Given the description of an element on the screen output the (x, y) to click on. 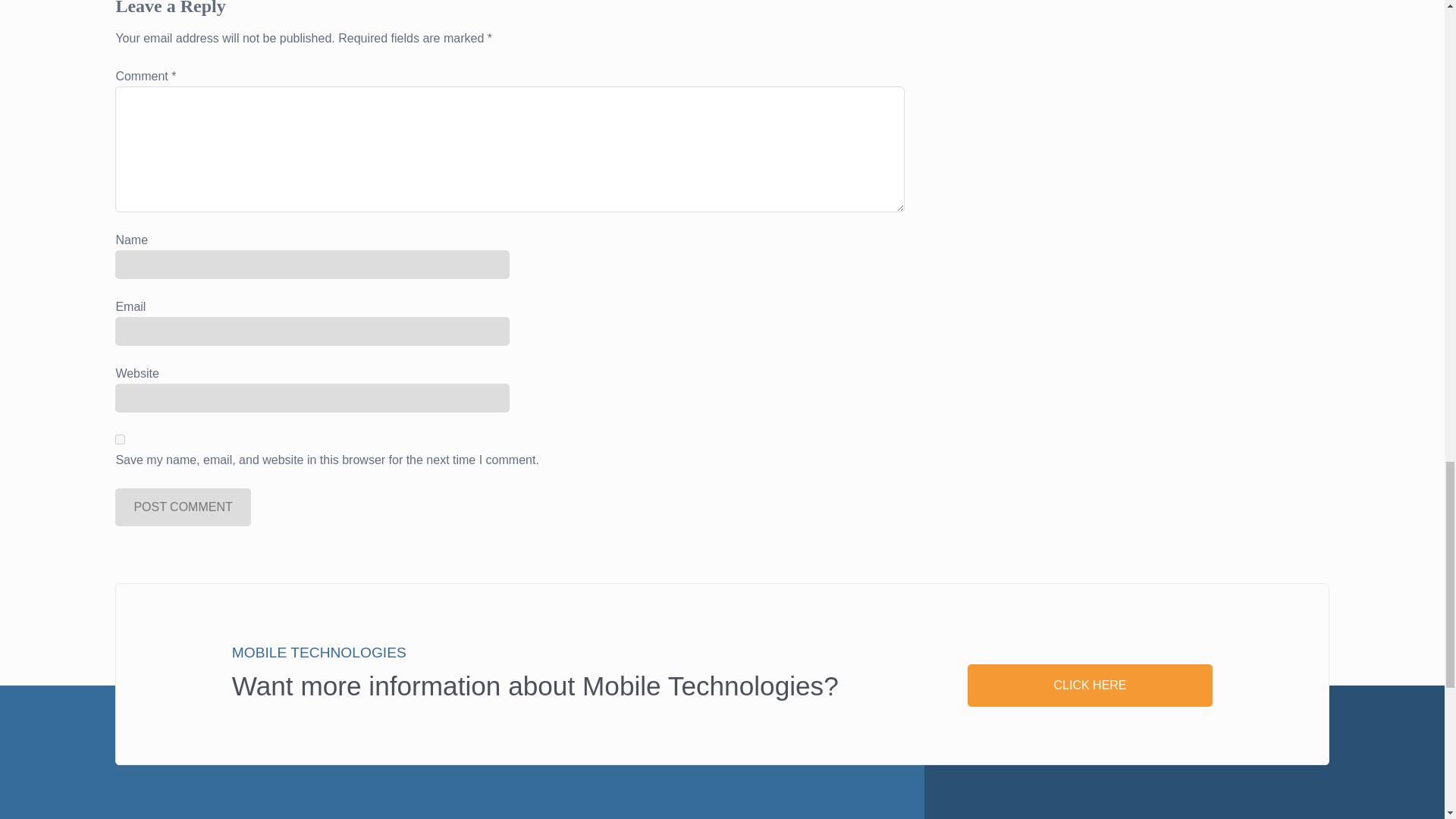
Post Comment (182, 507)
yes (120, 439)
